Given the description of an element on the screen output the (x, y) to click on. 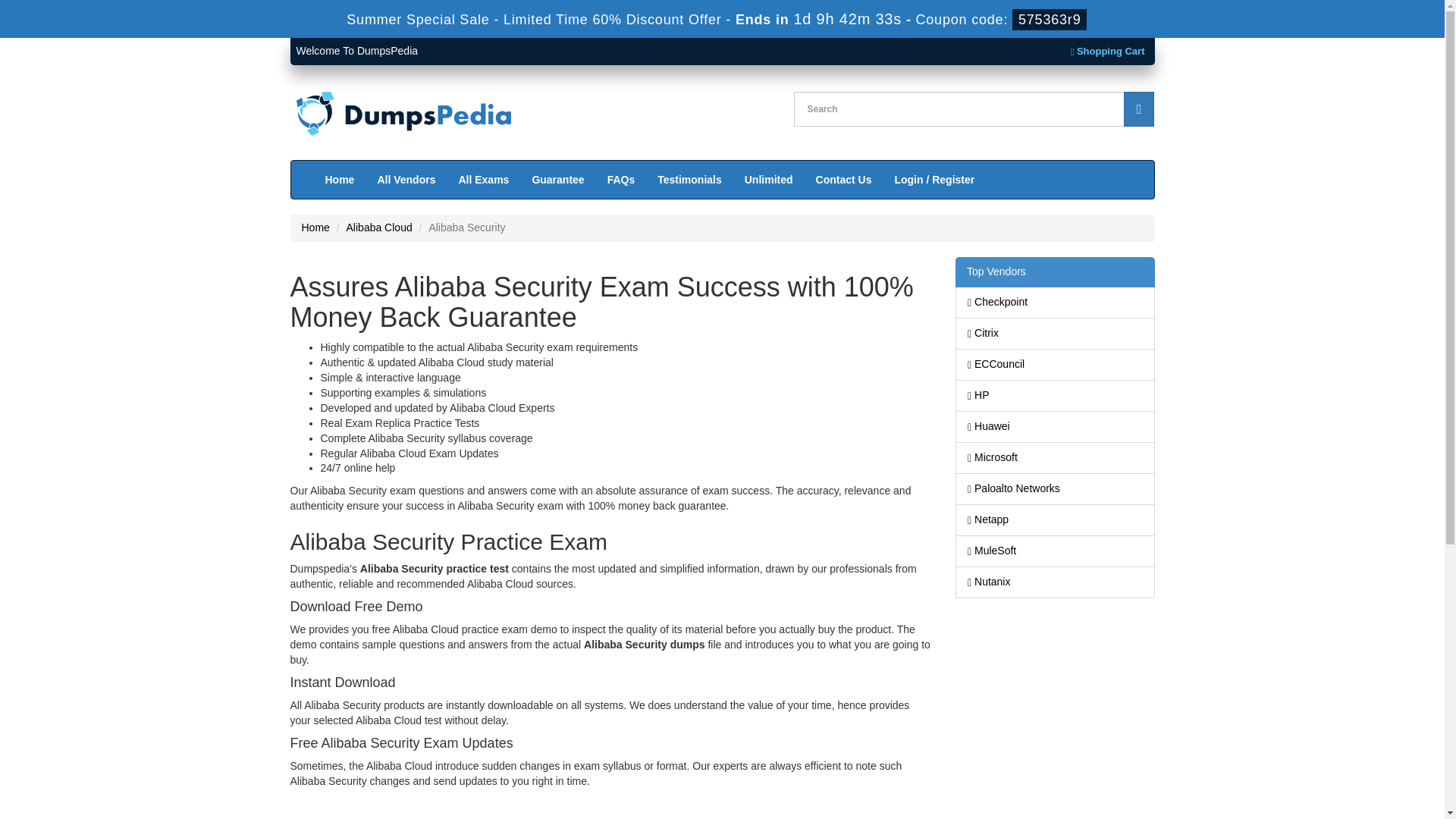
Huawei (1055, 426)
MuleSoft (1055, 551)
Citrix (1055, 333)
Nutanix (1055, 582)
Contact Us (844, 179)
ECCouncil (1055, 364)
Guarantee (557, 179)
Netapp (1055, 520)
Top Vendors (1054, 272)
Netapp (1055, 520)
Shopping Cart (1107, 50)
Unlimited (769, 179)
Paloalto Networks (1055, 489)
All Vendors (405, 179)
HP (1055, 395)
